Given the description of an element on the screen output the (x, y) to click on. 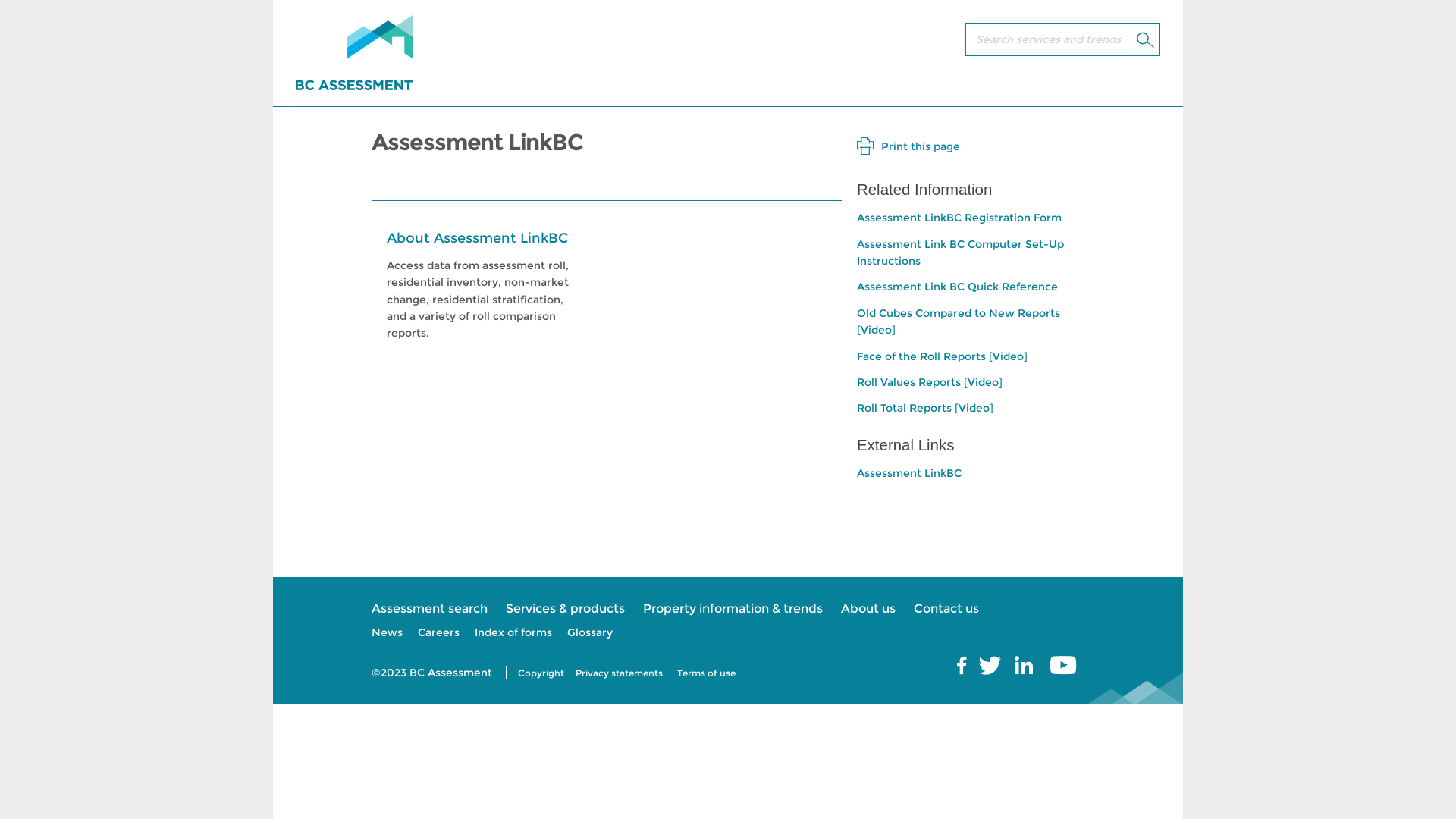
Contact us Element type: text (946, 608)
Copyright Element type: text (540, 672)
Privacy statements Element type: text (618, 672)
Roll Total Reports [Video] Element type: text (924, 407)
Assessment Link BC Computer Set-Up Instructions Element type: text (959, 252)
About us Element type: text (867, 608)
News Element type: text (386, 632)
About Assessment LinkBC Element type: text (476, 238)
Terms of use Element type: text (706, 672)
Assessment search Element type: text (429, 608)
Index of forms Element type: text (513, 632)
Assessment LinkBC Element type: text (908, 473)
Careers Element type: text (438, 632)
Property information & trends Element type: text (732, 608)
Face of the Roll Reports [Video] Element type: text (941, 356)
Services & products Element type: text (564, 608)
Assessment Link BC Quick Reference Element type: text (956, 286)
Roll Values Reports [Video] Element type: text (929, 382)
Assessment LinkBC Registration Form Element type: text (958, 217)
Glossary Element type: text (589, 632)
Old Cubes Compared to New Reports [Video] Element type: text (958, 321)
Print this page Element type: text (908, 145)
